Given the description of an element on the screen output the (x, y) to click on. 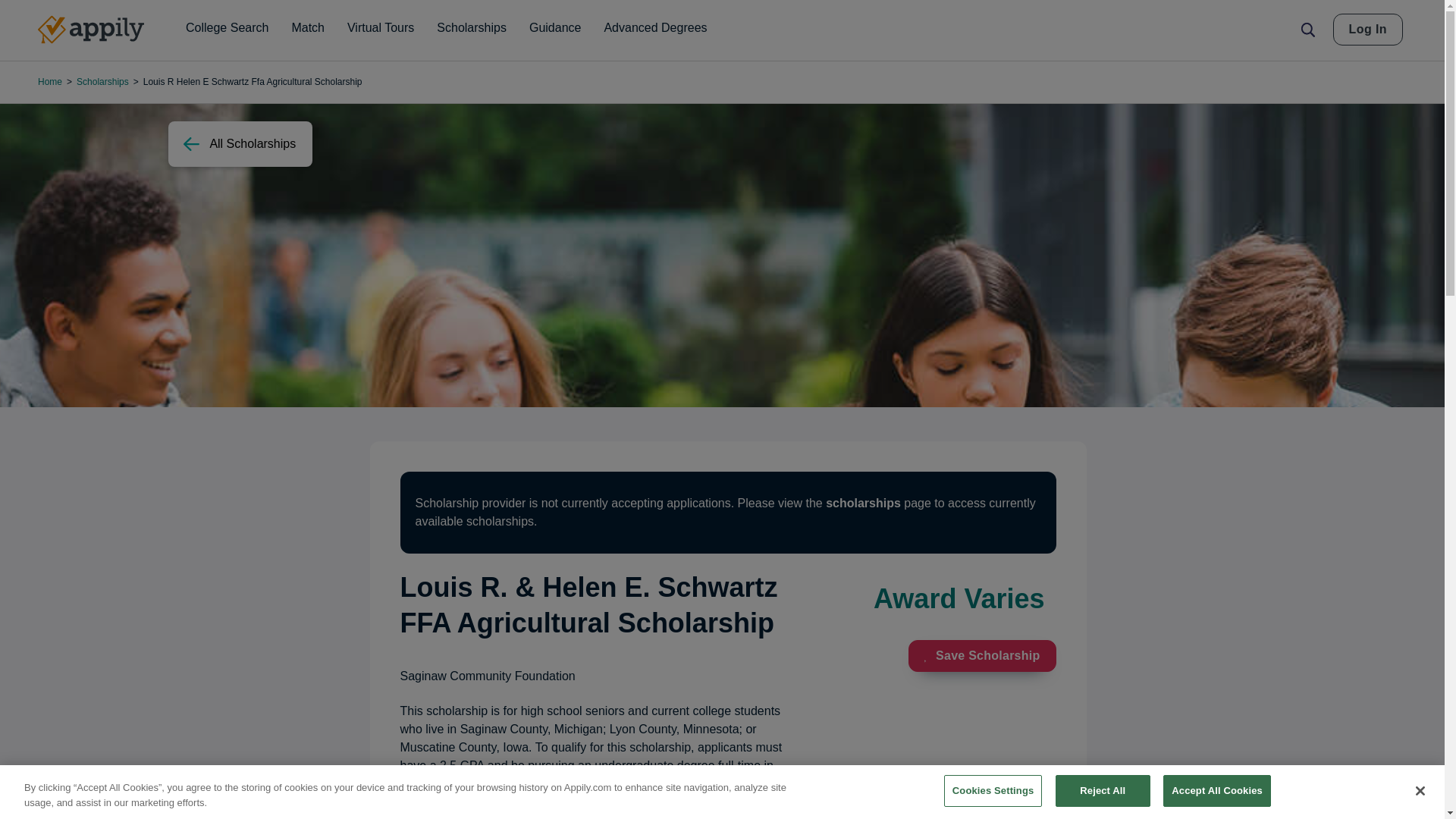
Match (307, 28)
College Search (226, 28)
Virtual Tours (380, 28)
Scholarships (471, 28)
Home (90, 29)
